Given the description of an element on the screen output the (x, y) to click on. 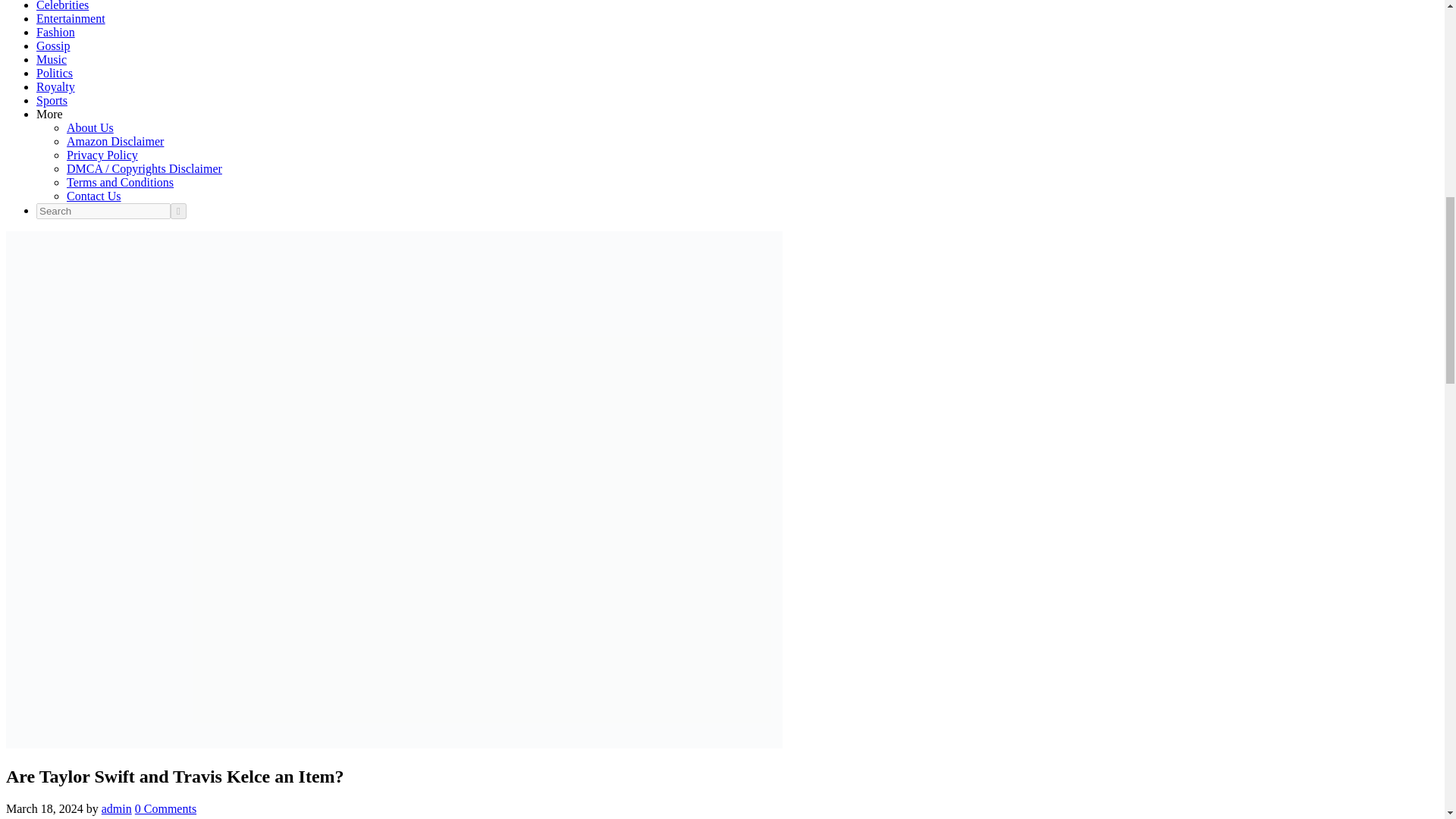
Entertainment (70, 18)
Fashion (55, 31)
Gossip (52, 45)
More (49, 113)
Celebrities (62, 5)
Sports (51, 100)
Politics (54, 72)
Terms and Conditions (119, 182)
Music (51, 59)
About Us (89, 127)
